Given the description of an element on the screen output the (x, y) to click on. 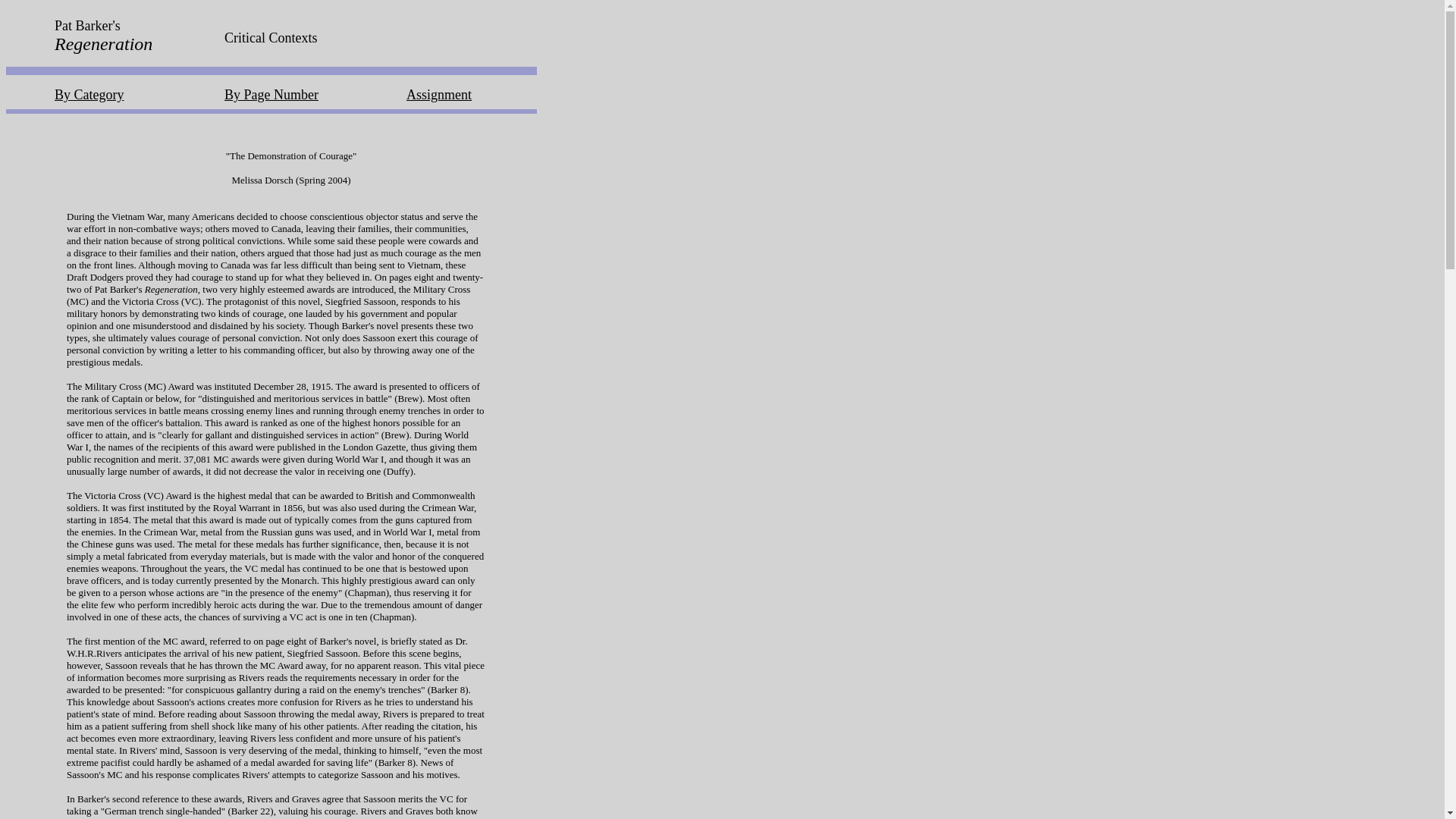
By Category (89, 94)
Assignment (438, 94)
By Page Number (271, 94)
